Given the description of an element on the screen output the (x, y) to click on. 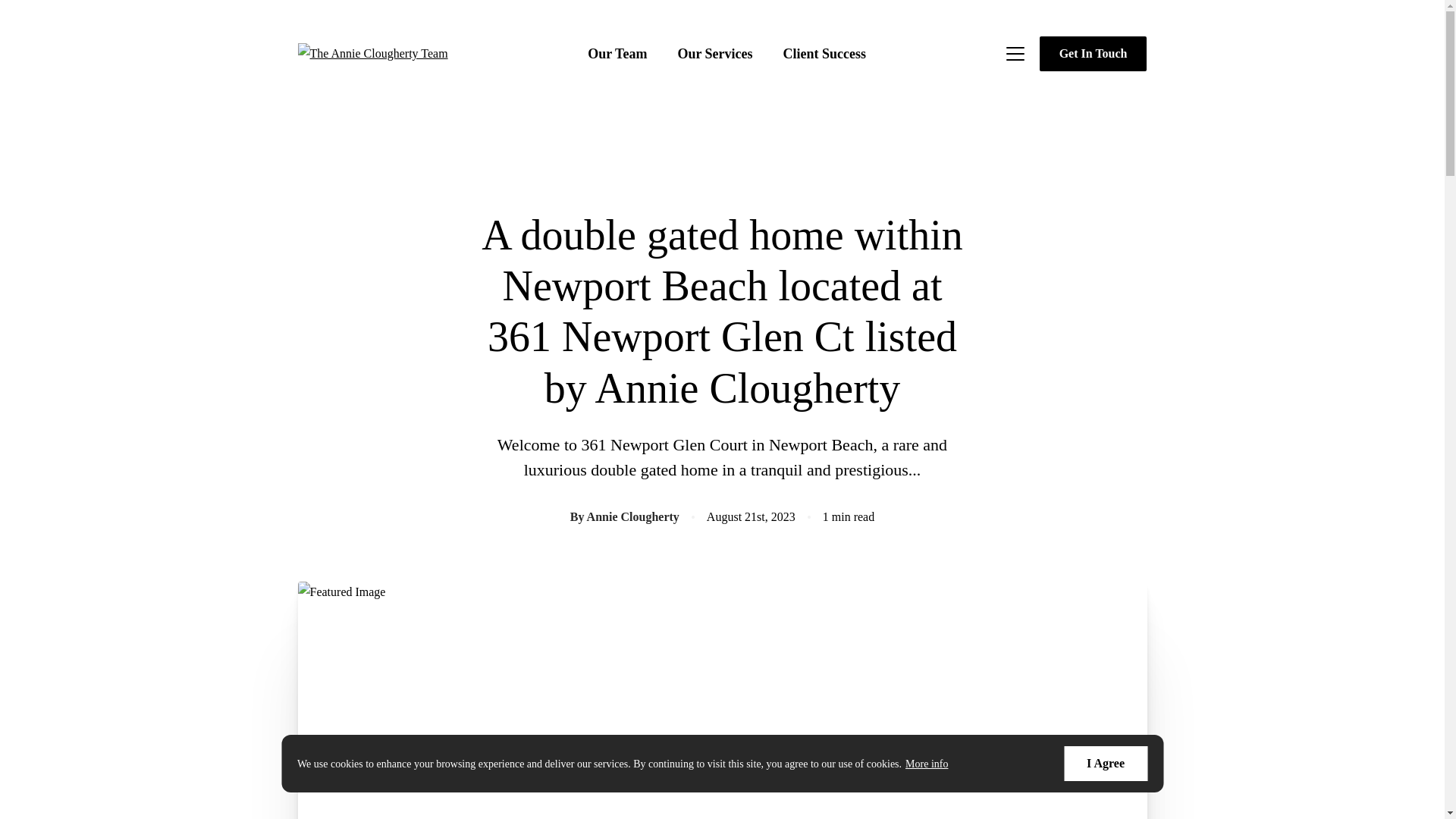
I Agree (1105, 763)
Our Services (714, 53)
Client Success (824, 53)
Get In Touch (1093, 53)
More info (926, 763)
Our Team (617, 53)
Annie Clougherty (632, 516)
